Given the description of an element on the screen output the (x, y) to click on. 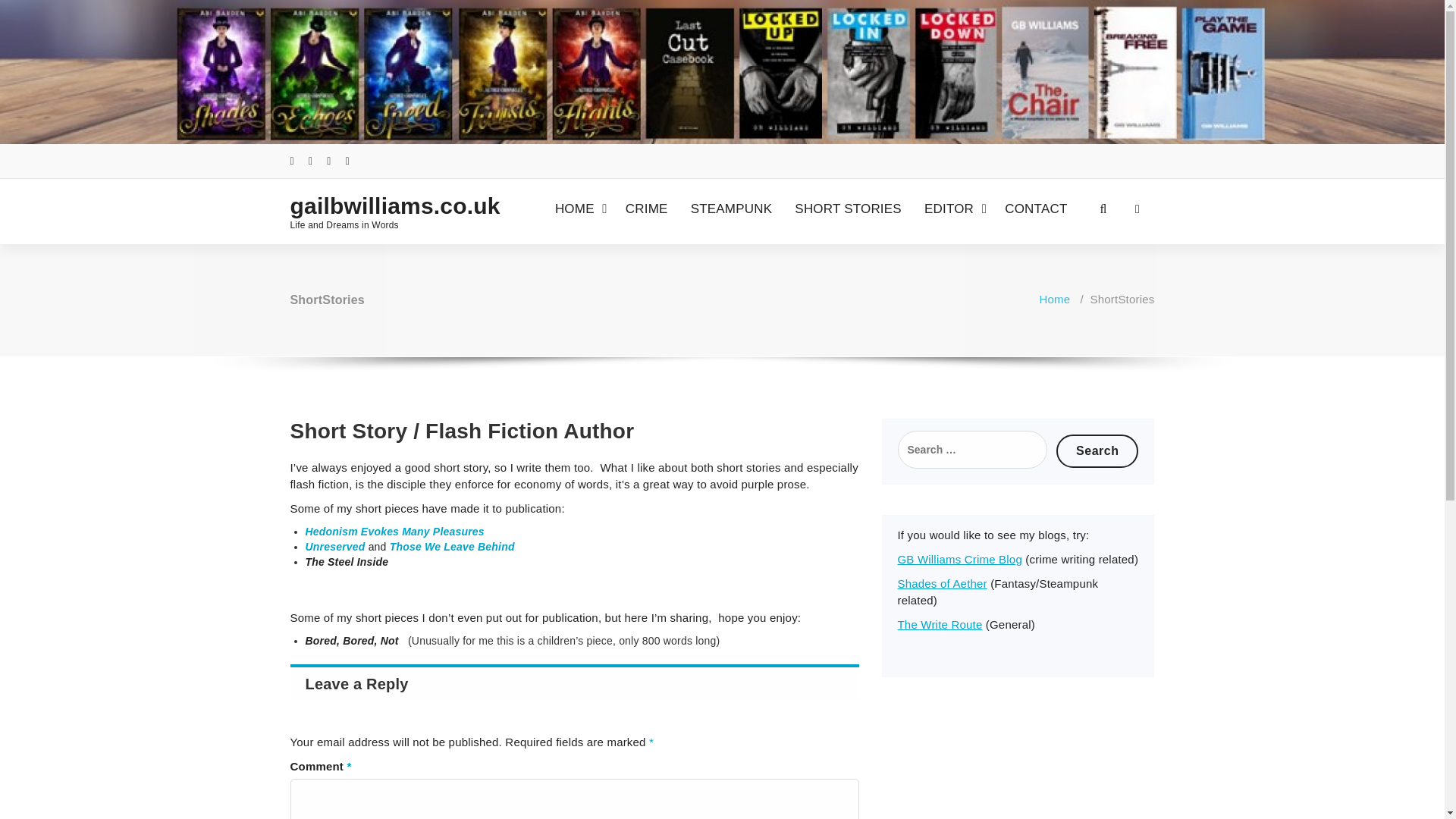
Search (1097, 450)
STEAMPUNK (731, 209)
gailbwilliams.co.uk (389, 206)
EDITOR (953, 209)
Search (1097, 450)
HOME (578, 209)
CRIME (646, 209)
SHORT STORIES (848, 209)
CONTACT (1035, 209)
